Given the description of an element on the screen output the (x, y) to click on. 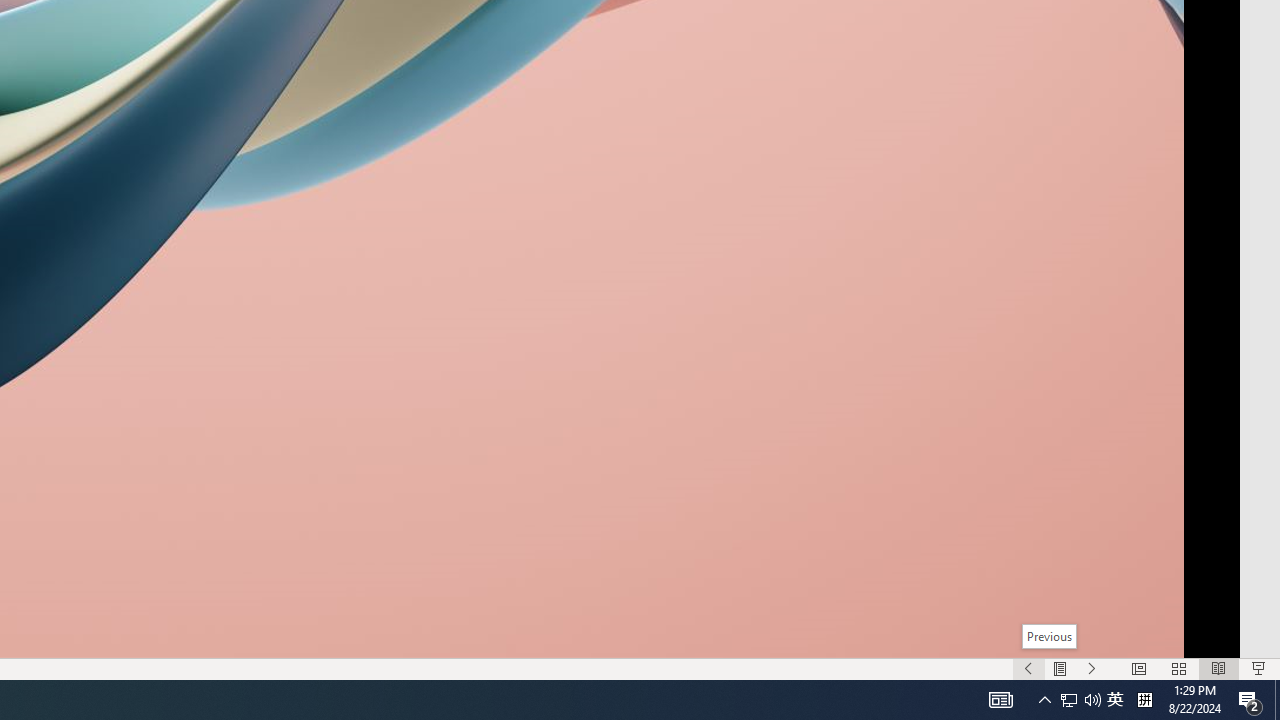
Slide Show Next On (1092, 668)
Menu On (1060, 668)
Slide Show Previous On (1028, 668)
Previous (1048, 636)
